Given the description of an element on the screen output the (x, y) to click on. 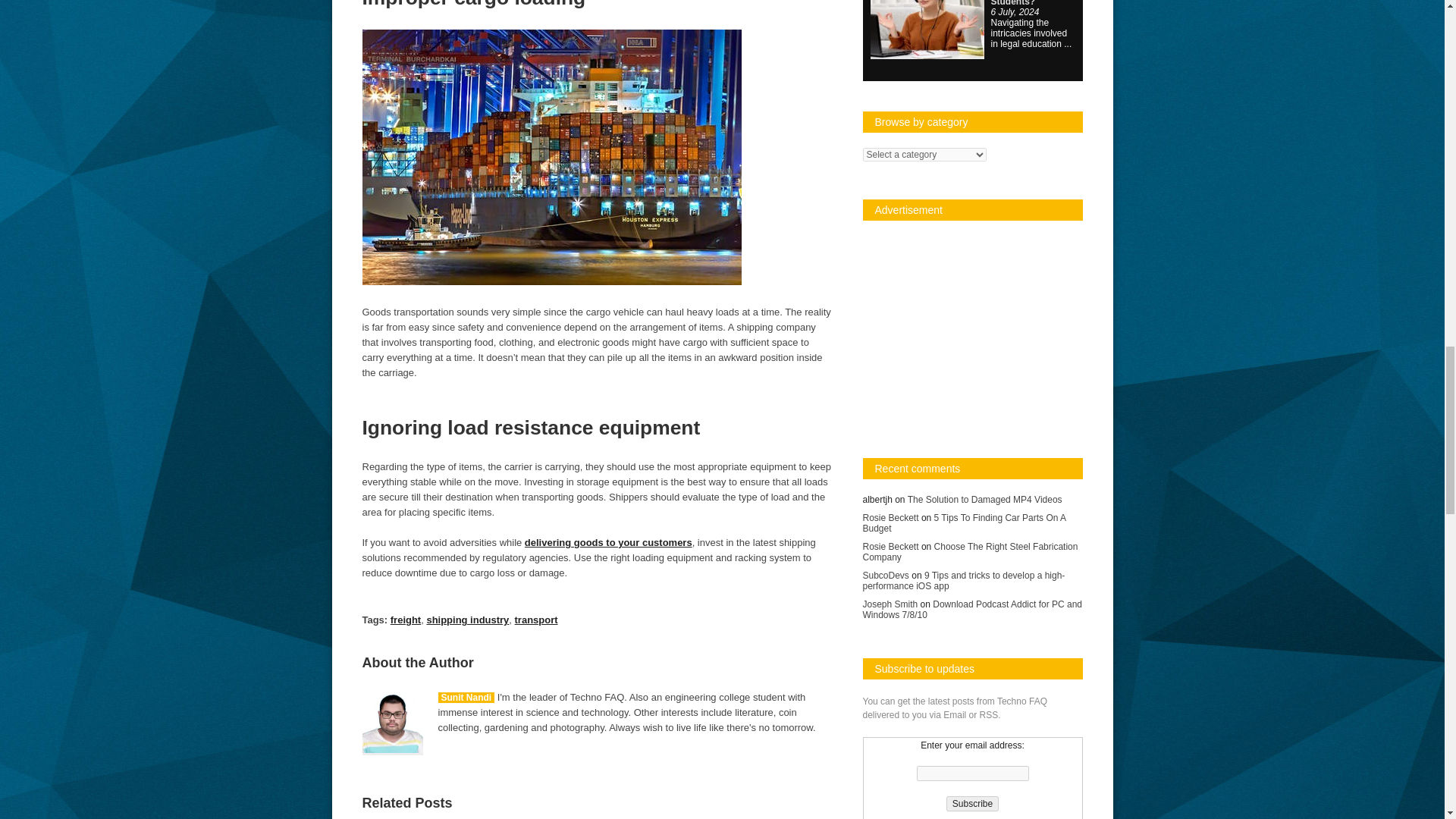
Sunit Nandi (466, 697)
freight (405, 619)
Subscribe (972, 803)
delivering goods to your customers (608, 542)
Posts by Sunit Nandi (466, 697)
shipping industry (467, 619)
transport (536, 619)
